Given the description of an element on the screen output the (x, y) to click on. 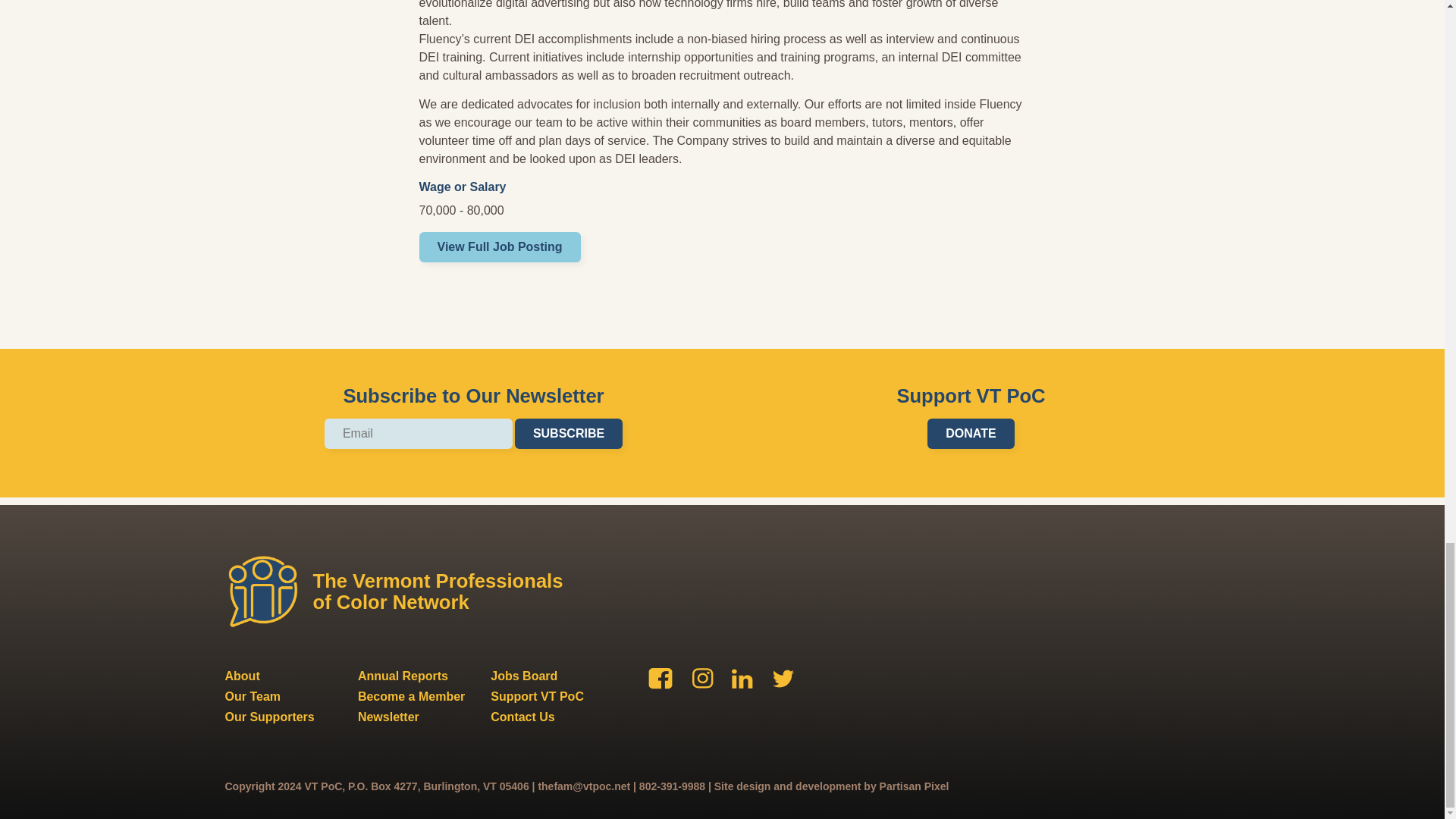
About (241, 675)
SUBSCRIBE (569, 433)
The Vermont Professionals of Color Network (401, 591)
Our Supporters (269, 716)
Annual Reports (403, 675)
View Full Job Posting (499, 246)
DONATE (970, 433)
SUBSCRIBE (569, 433)
Our Team (252, 696)
